Given the description of an element on the screen output the (x, y) to click on. 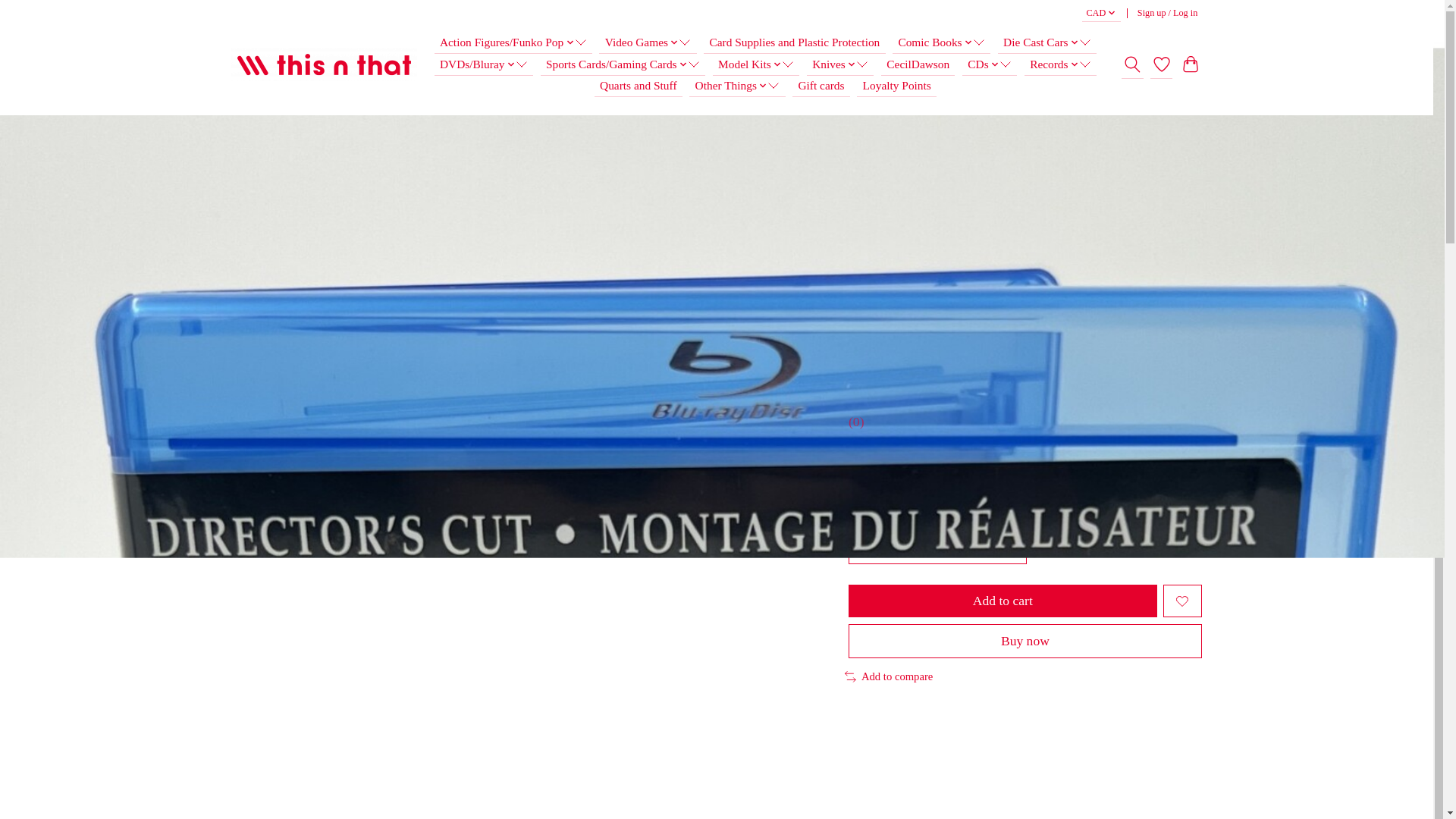
This N That - Your Online Super Shop of all things awesome! (323, 64)
CAD (1101, 13)
1 (937, 548)
Comic Books (941, 42)
Video Games (646, 42)
Die Cast Cars (1046, 42)
Card Supplies and Plastic Protection (794, 42)
My account (1167, 13)
